Given the description of an element on the screen output the (x, y) to click on. 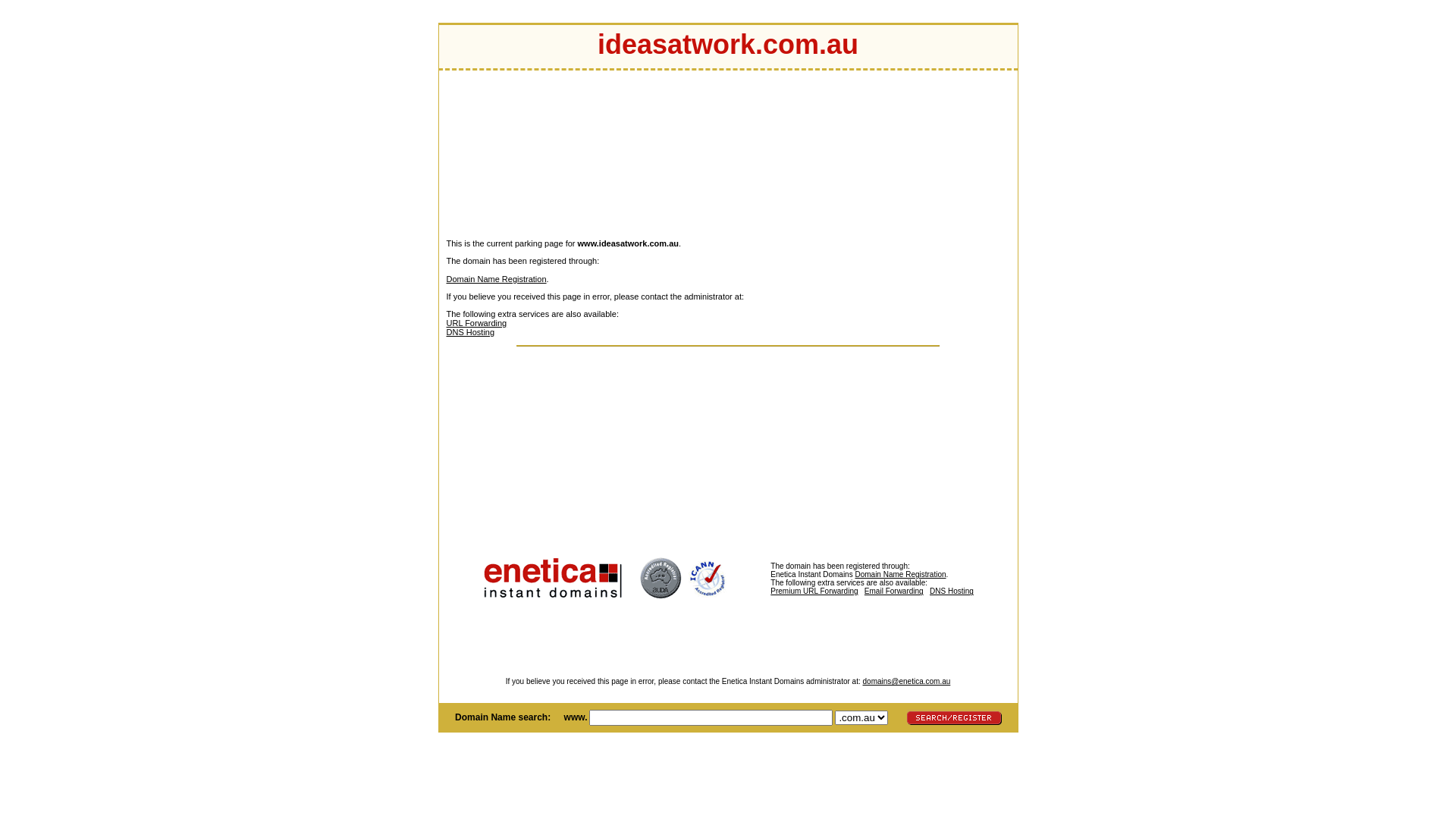
Email Forwarding Element type: text (893, 590)
DNS Hosting Element type: text (469, 331)
domains@enetica.com.au Element type: text (906, 681)
DNS Hosting Element type: text (951, 590)
URL Forwarding Element type: text (475, 322)
Domain Name Registration Element type: text (495, 278)
Domain Name Registration Element type: text (899, 574)
Premium URL Forwarding Element type: text (850, 594)
